Given the description of an element on the screen output the (x, y) to click on. 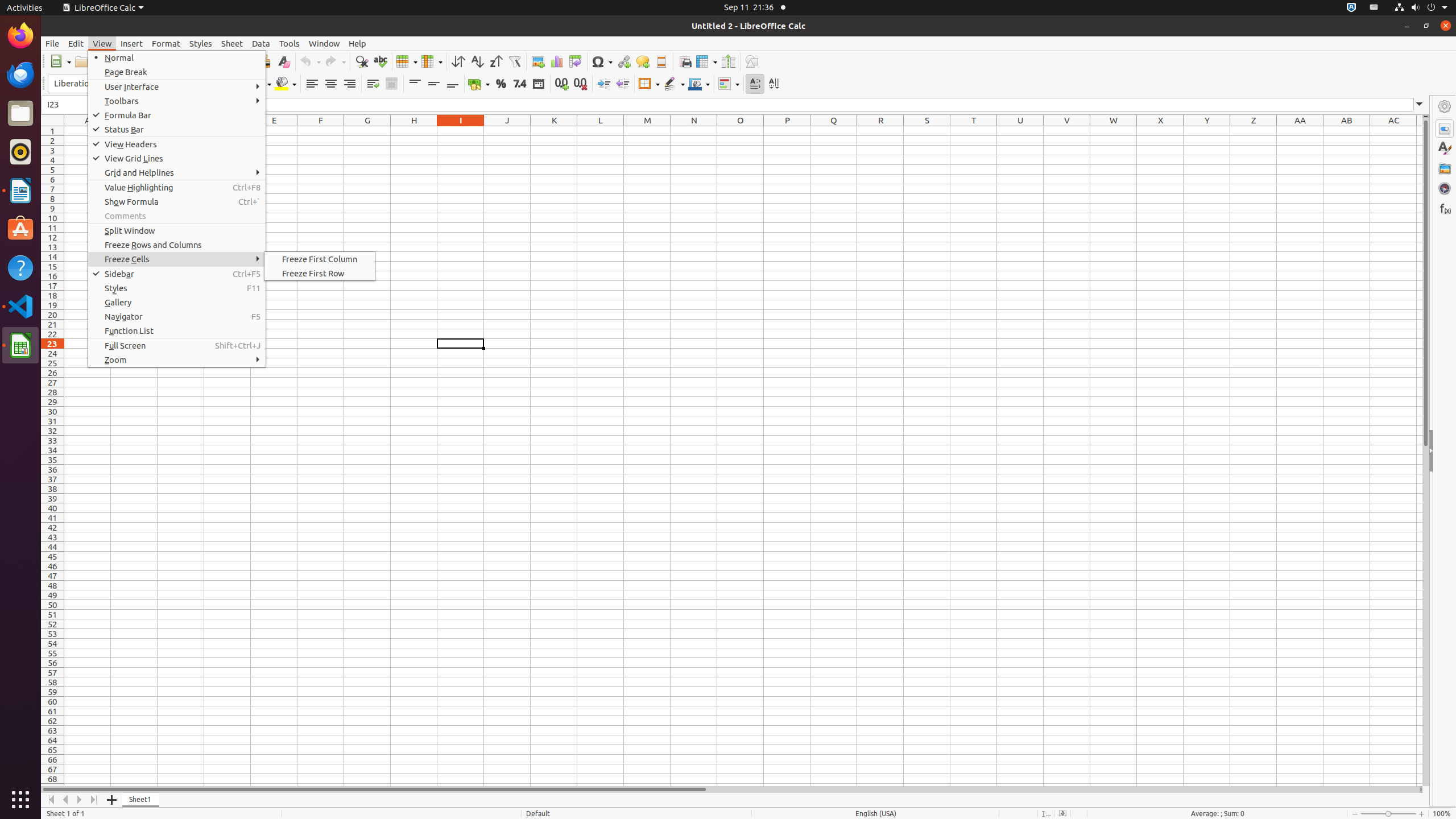
Move Left Element type: push-button (65, 799)
Data Element type: menu (260, 43)
Text direction from top to bottom Element type: toggle-button (773, 83)
A1 Element type: table-cell (87, 130)
Freeze First Column Element type: menu-item (319, 258)
